Given the description of an element on the screen output the (x, y) to click on. 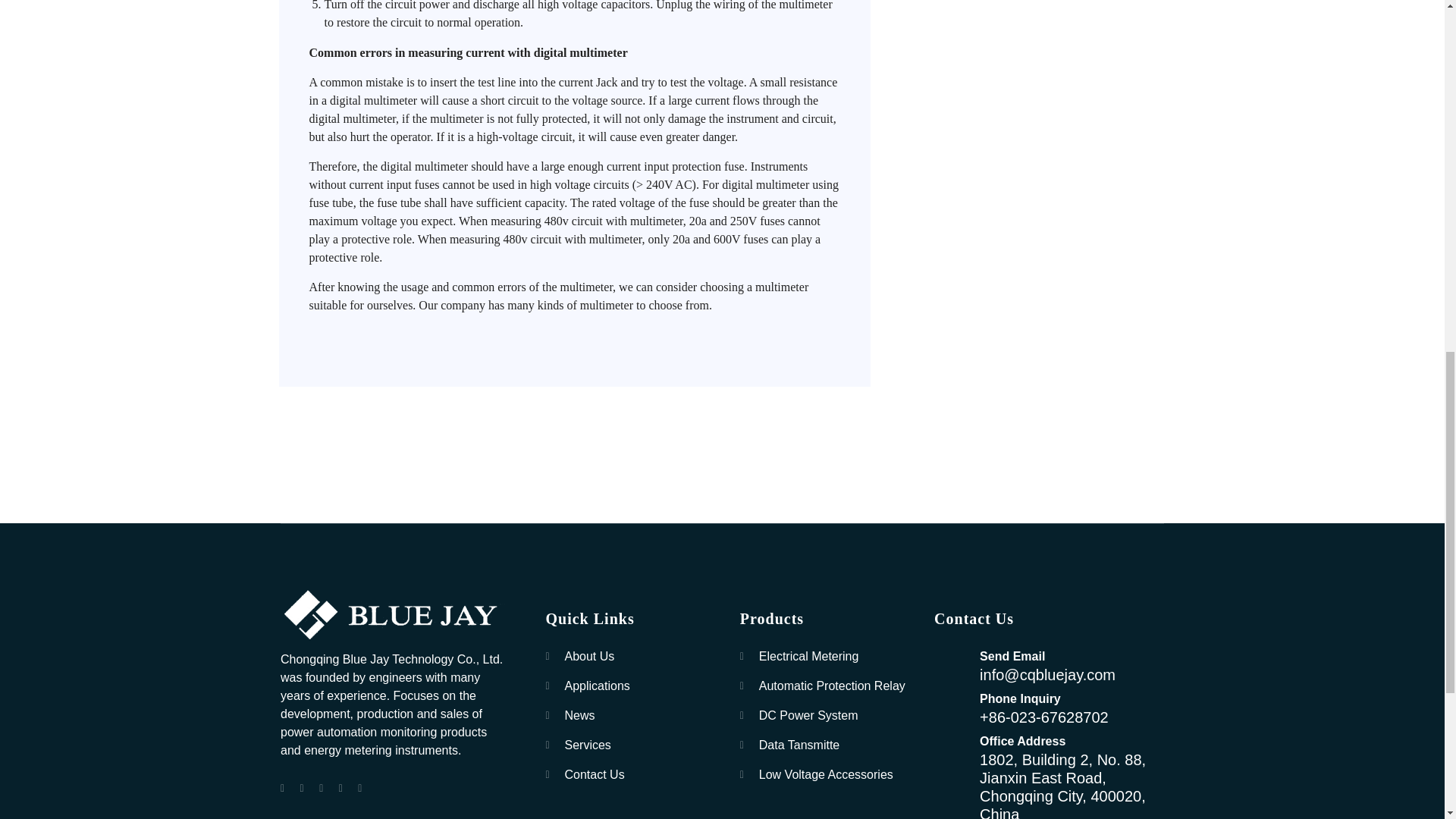
Strnix - Green Energy HTML Template (394, 615)
Strnix - Green Energy HTML Template (394, 615)
